Given the description of an element on the screen output the (x, y) to click on. 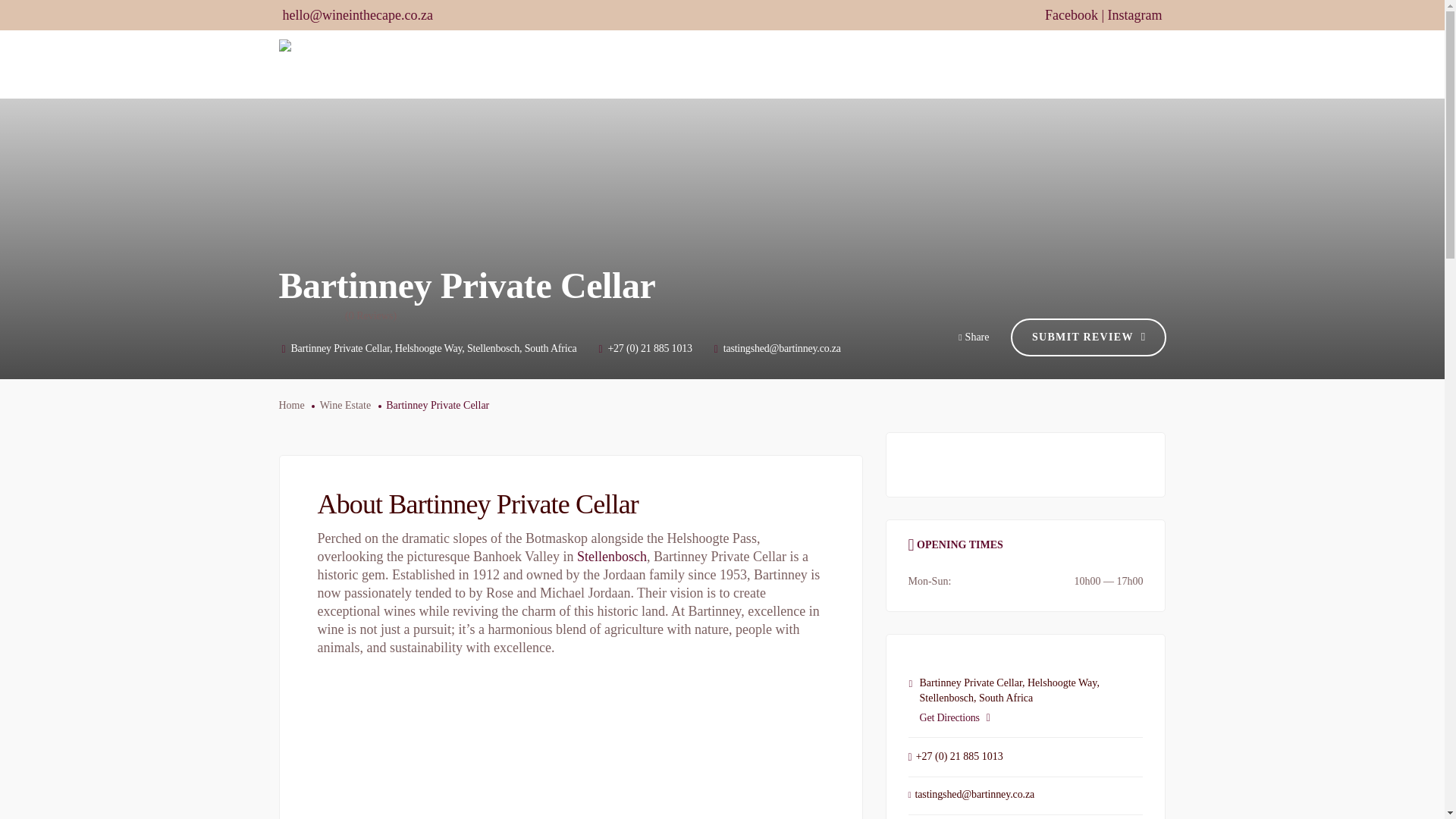
Facebook (1071, 14)
Wine Tours (799, 64)
Home (605, 64)
Cape Wine Blog (1037, 64)
Instagram (1134, 14)
Cape Wine Routes (694, 64)
Weddings (879, 64)
Contact Us (1132, 64)
Explore (950, 64)
